Given the description of an element on the screen output the (x, y) to click on. 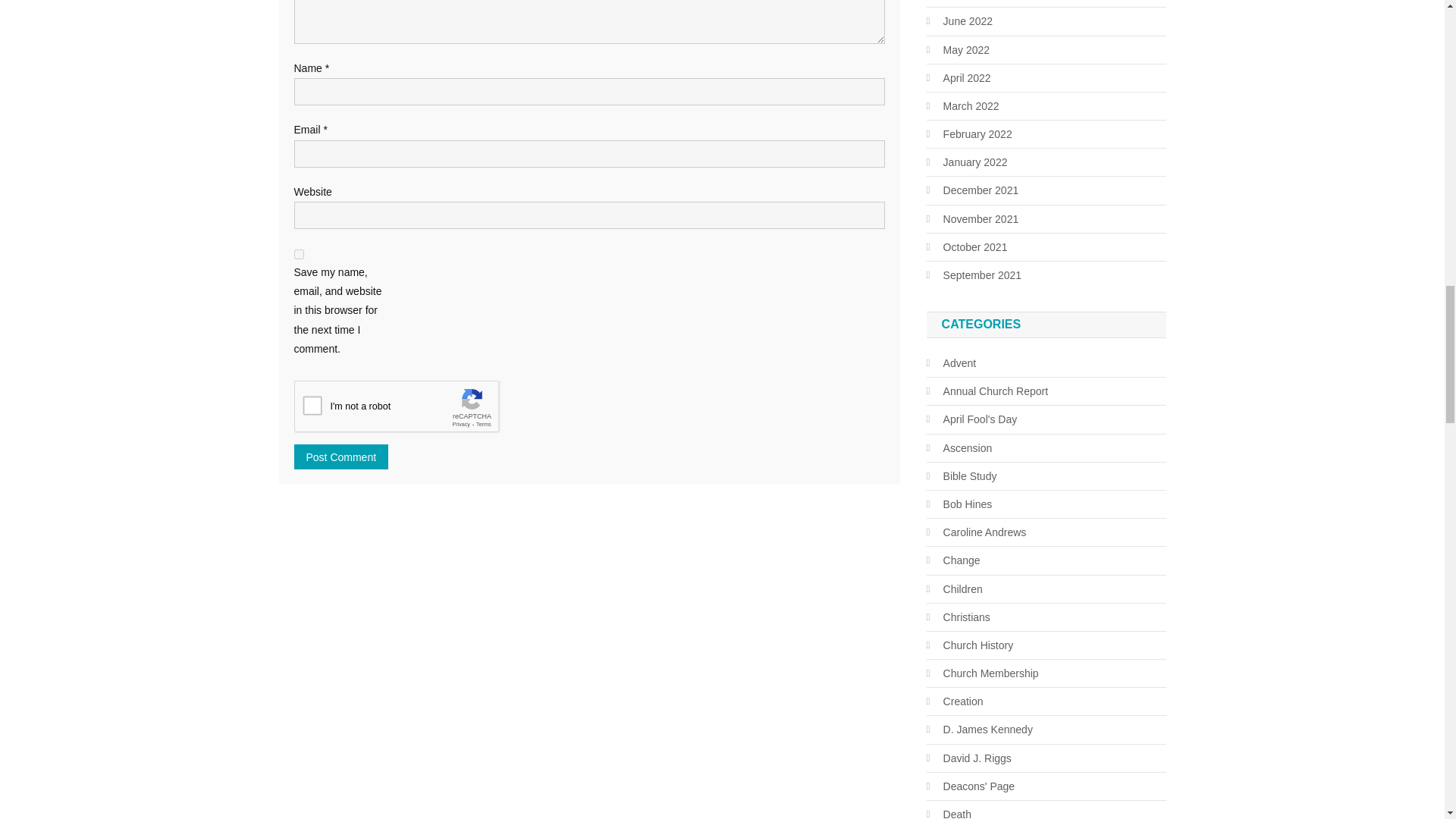
yes (299, 254)
Post Comment (341, 456)
reCAPTCHA (409, 409)
